Given the description of an element on the screen output the (x, y) to click on. 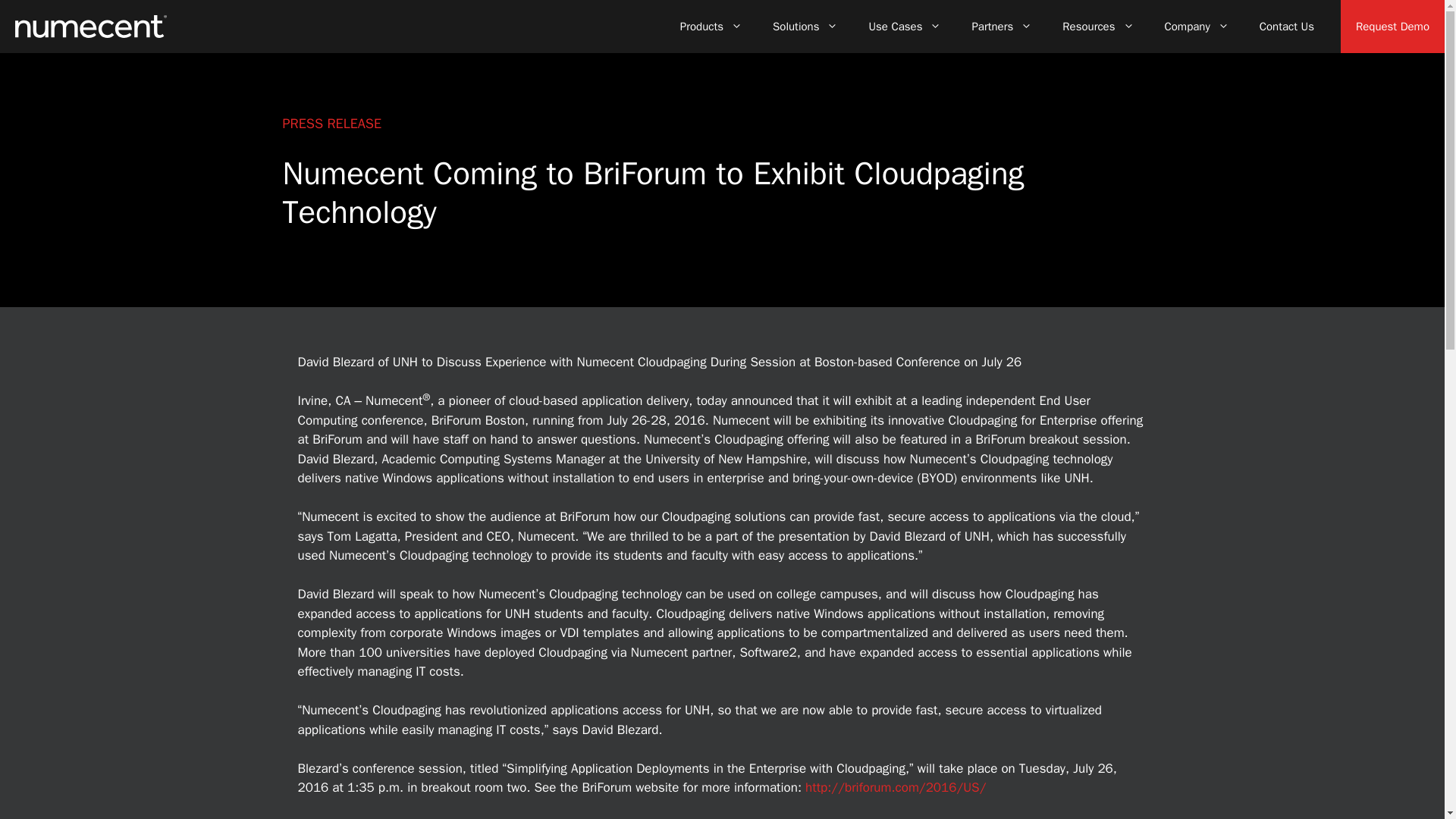
Company (1197, 26)
Contact Us (1286, 26)
Use Cases (904, 26)
Solutions (805, 26)
PRESS RELEASE (331, 123)
Resources (1097, 26)
Products (711, 26)
Partners (1001, 26)
